Given the description of an element on the screen output the (x, y) to click on. 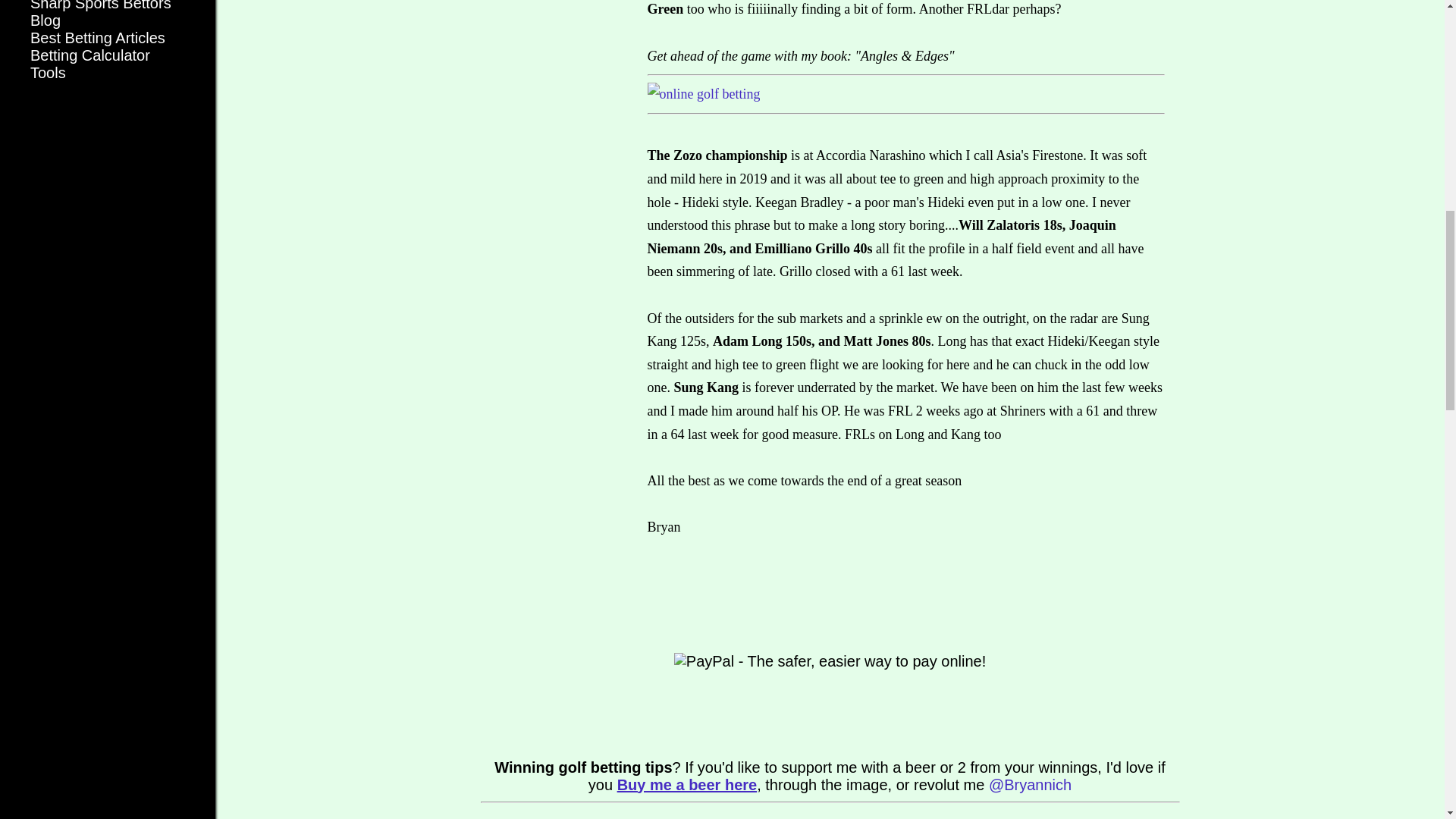
Betting Calculator Tools (89, 63)
Buy me a beer here (687, 784)
Best Betting Articles (97, 37)
Sharp Sports Bettors Blog (100, 14)
